Given the description of an element on the screen output the (x, y) to click on. 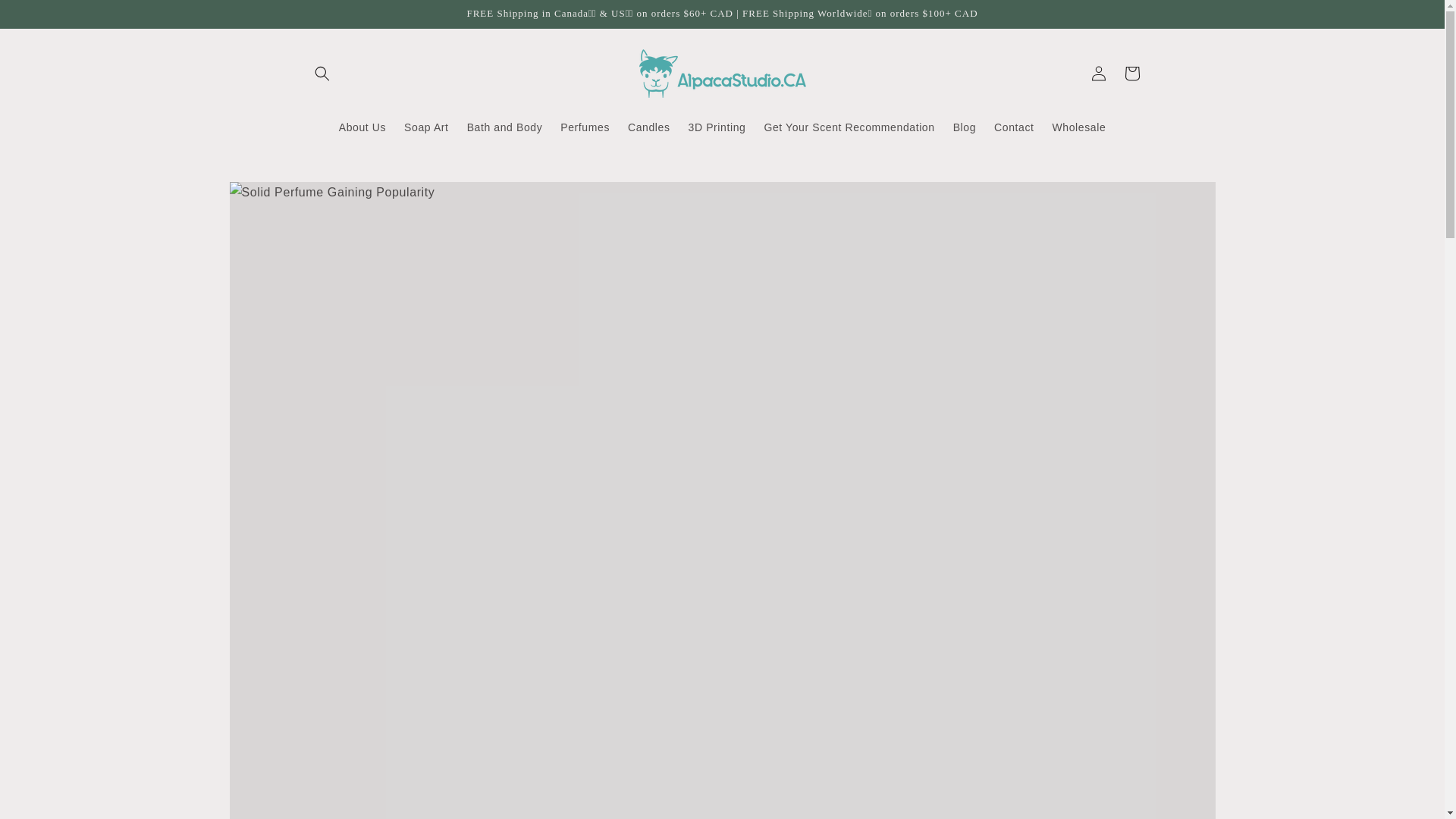
Wholesale (1079, 127)
About Us (362, 127)
Get Your Scent Recommendation (848, 127)
Cart (1131, 73)
Blog (964, 127)
Soap Art (426, 127)
Candles (648, 127)
3D Printing (717, 127)
Perfumes (584, 127)
Skip to content (45, 16)
Log in (1098, 73)
Contact (1013, 127)
Bath and Body (504, 127)
